Given the description of an element on the screen output the (x, y) to click on. 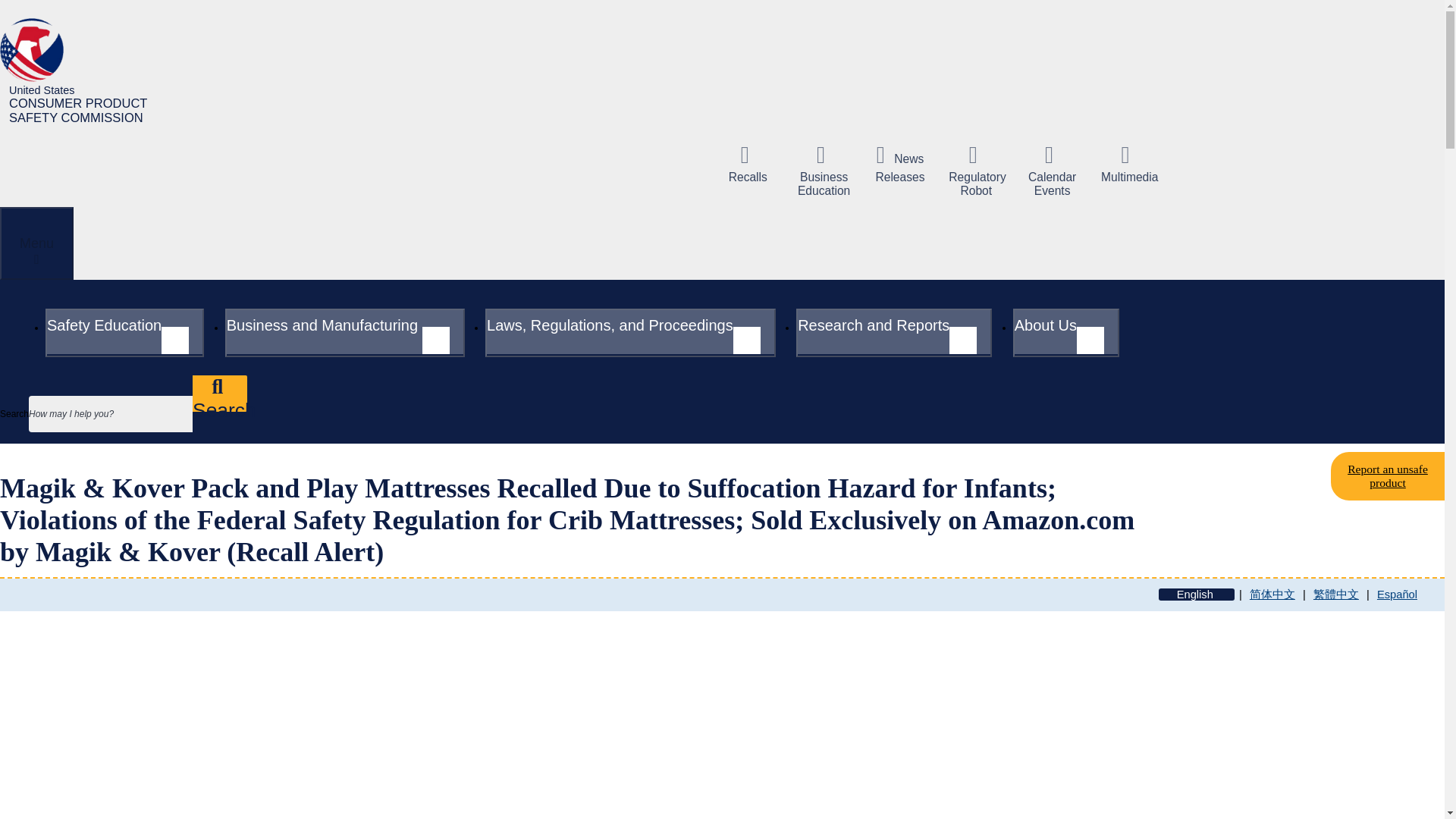
Regulatory Robot (975, 170)
  News Releases (899, 163)
Share it on Facebook (108, 687)
  Multimedia (1128, 163)
Copy Link (333, 687)
Safety Education (124, 332)
Business and Manufacturing (344, 332)
  Business Education (823, 170)
  Recalls (747, 163)
Laws, Regulations, and Proceedings (630, 332)
Print Page (409, 687)
Menu (37, 243)
Recalls (747, 163)
Calendar Events (1052, 170)
CPSC home (81, 71)
